Given the description of an element on the screen output the (x, y) to click on. 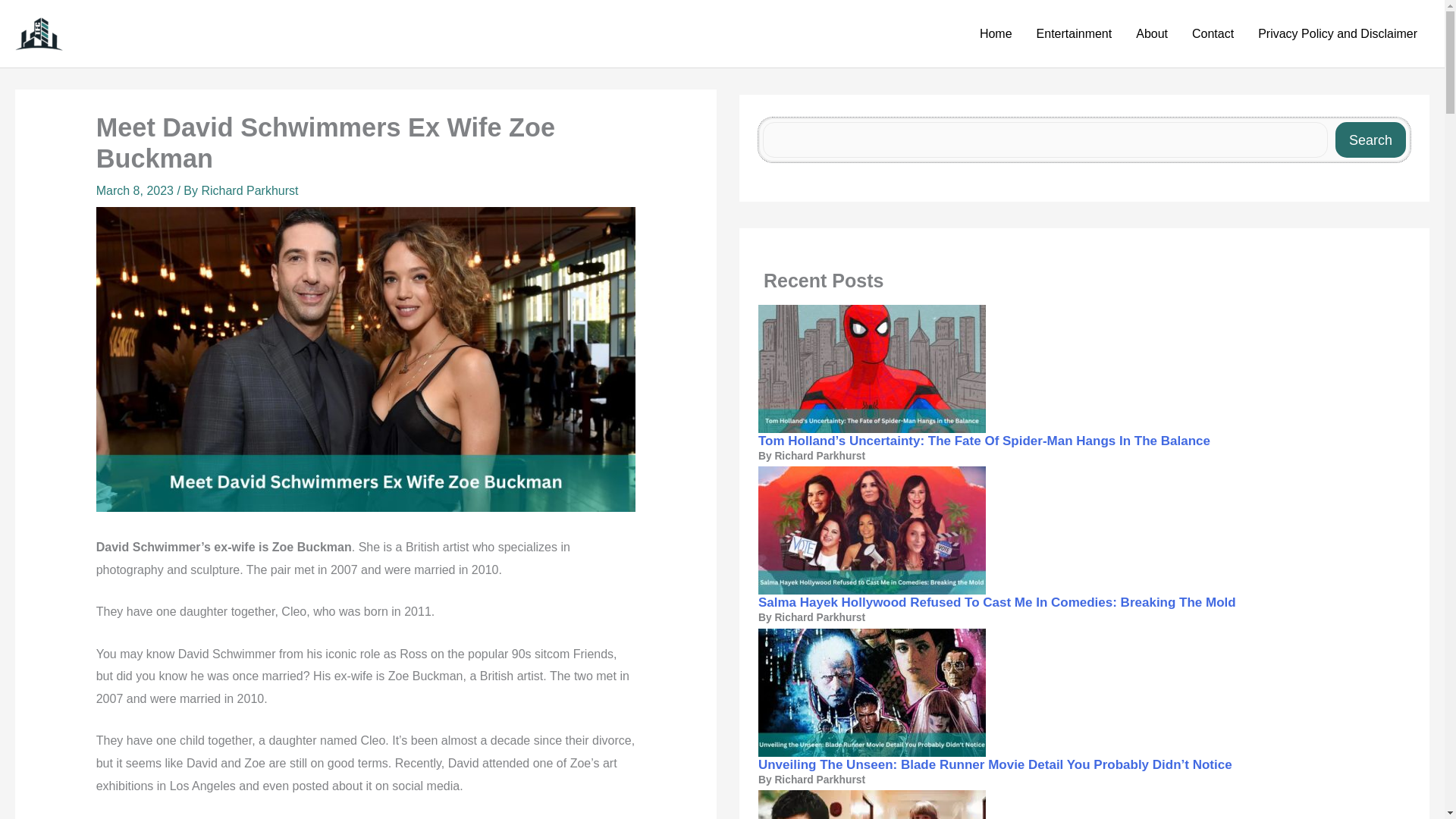
Privacy Policy and Disclaimer (1337, 34)
Search (1370, 140)
Richard Parkhurst (249, 190)
Home (996, 34)
About (1151, 34)
Entertainment (1074, 34)
View all posts by Richard Parkhurst (249, 190)
Contact (1212, 34)
